Given the description of an element on the screen output the (x, y) to click on. 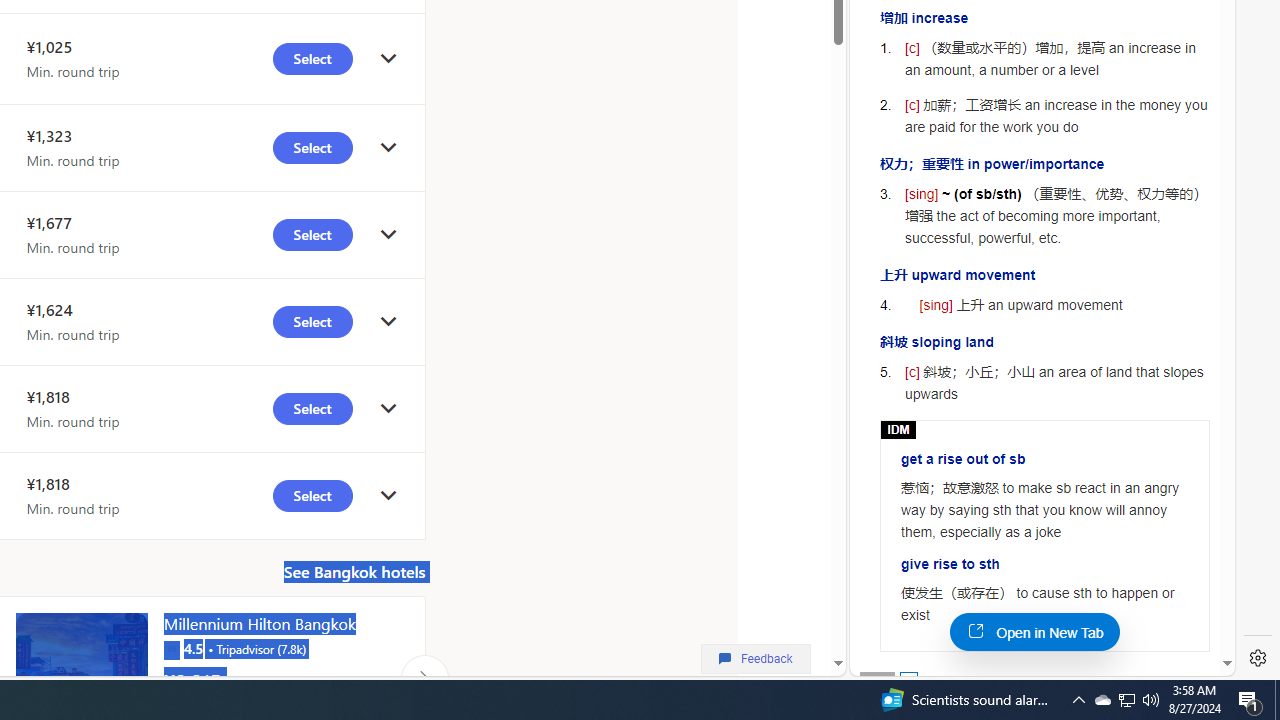
Tripadvisor (171, 648)
AutomationID: posbtn_1 (908, 680)
Click to scroll right (424, 677)
click to get details (388, 494)
